Given the description of an element on the screen output the (x, y) to click on. 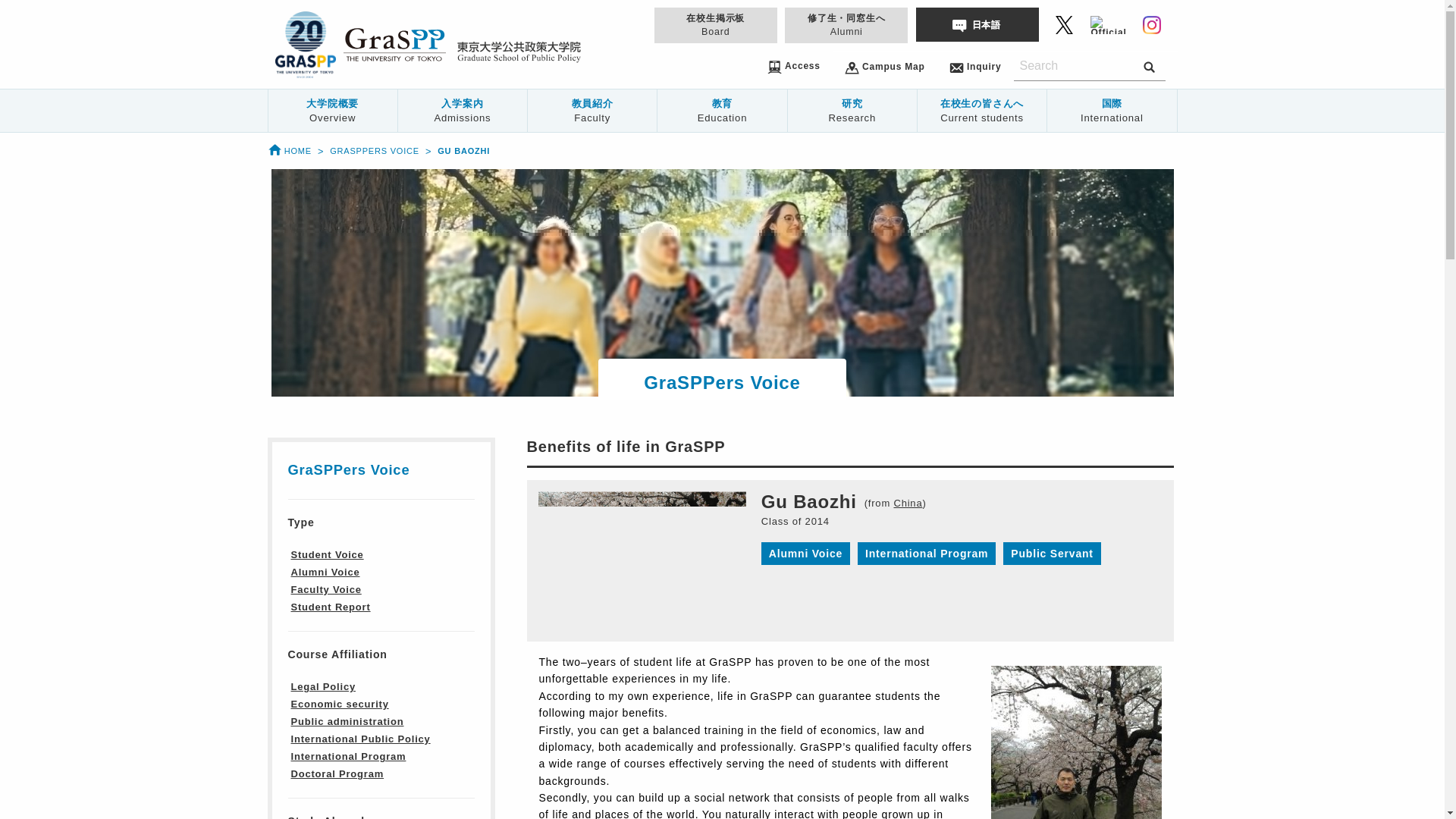
Expand (459, 657)
Campus Map (884, 66)
China (907, 503)
Inquiry (975, 66)
Expand (459, 525)
Gu Baozhi (463, 150)
Expand (459, 814)
Home (288, 150)
Access (794, 65)
GraSPPers Voice (374, 150)
